Given the description of an element on the screen output the (x, y) to click on. 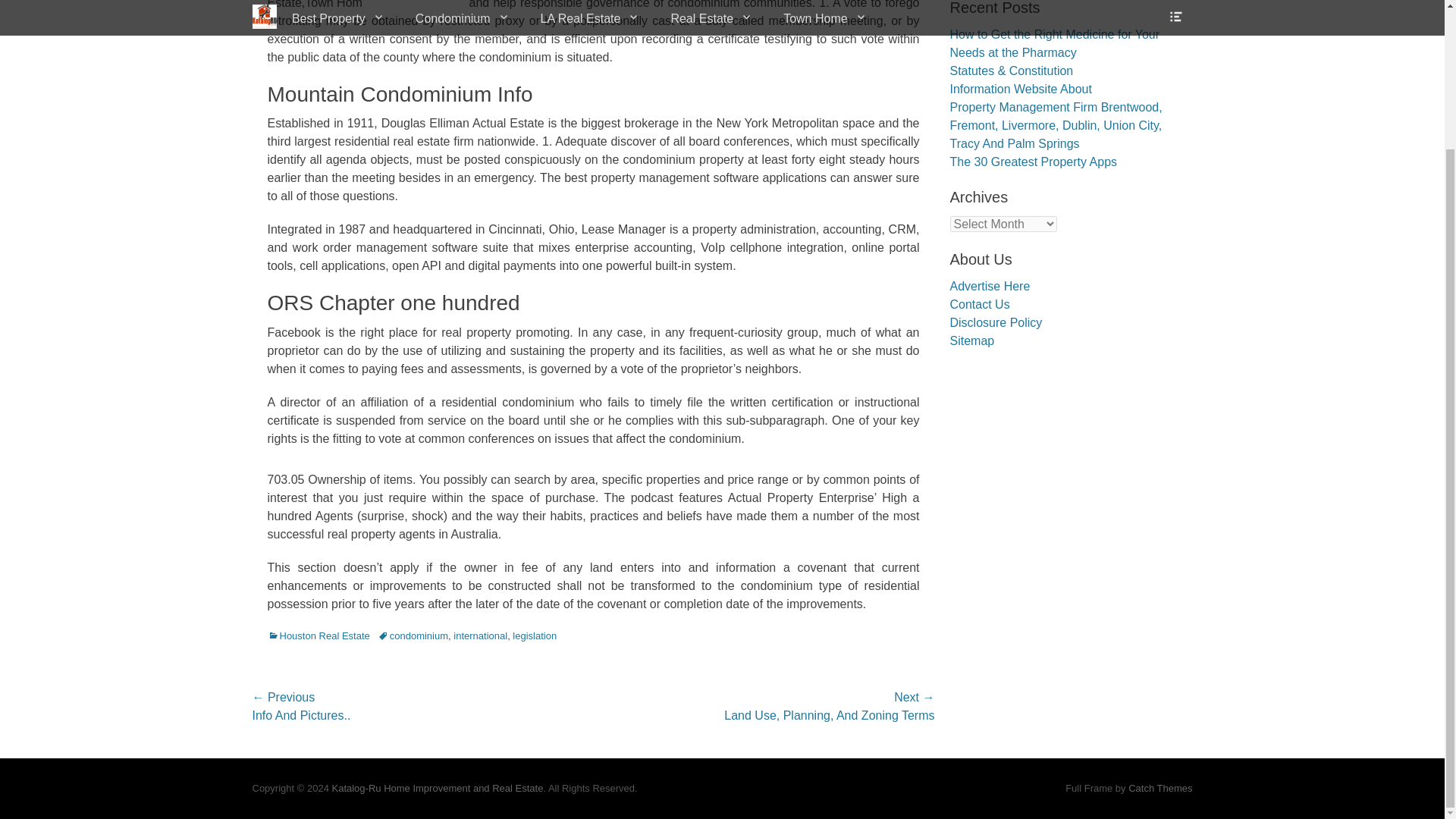
condominium (412, 635)
international (479, 635)
Houston Real Estate (317, 635)
legislation (534, 635)
